Given the description of an element on the screen output the (x, y) to click on. 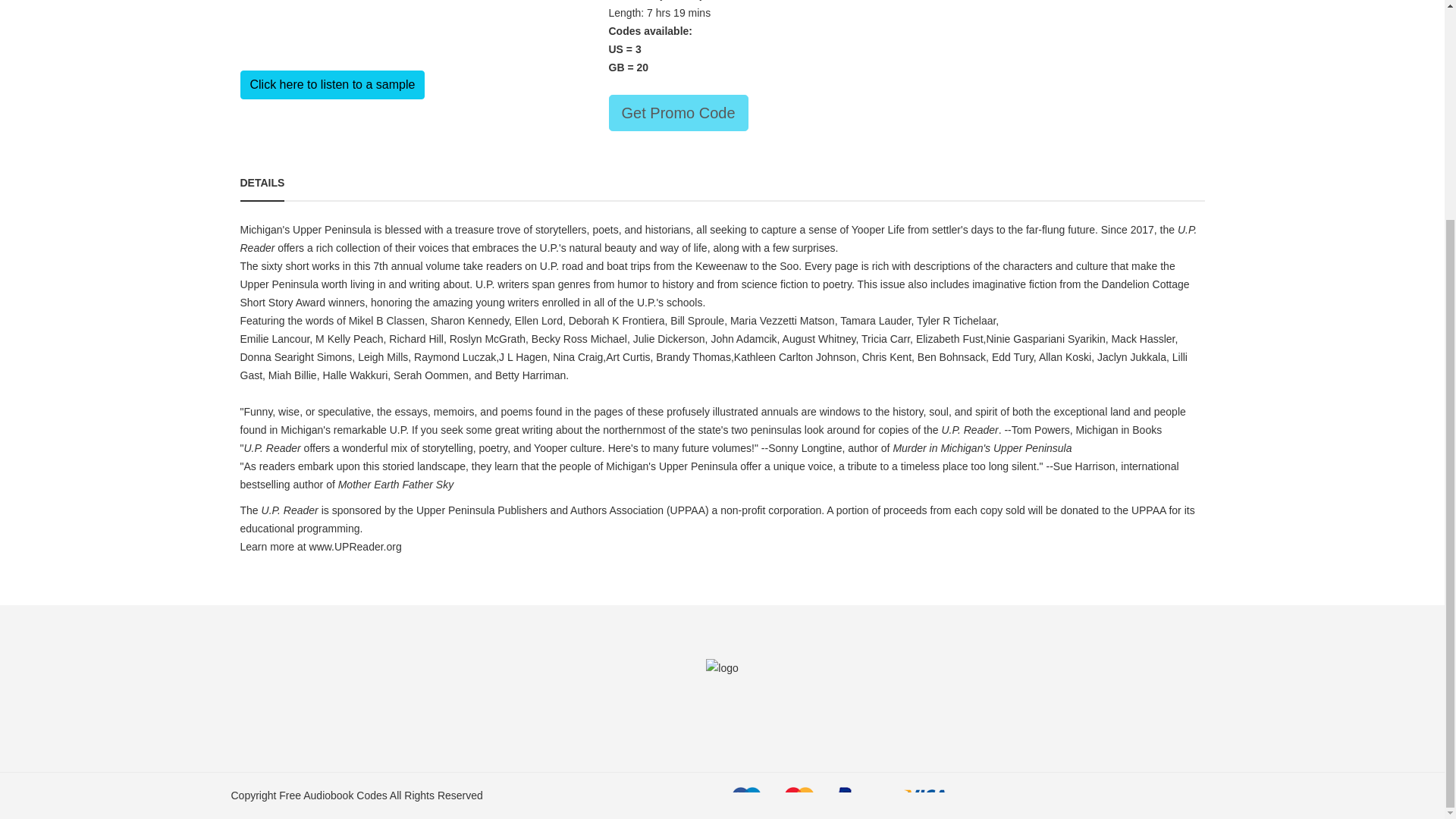
Click here to listen to a sample (332, 84)
Free Audiobook Codes (333, 795)
DETAILS (261, 182)
Get Promo Code (678, 113)
